Given the description of an element on the screen output the (x, y) to click on. 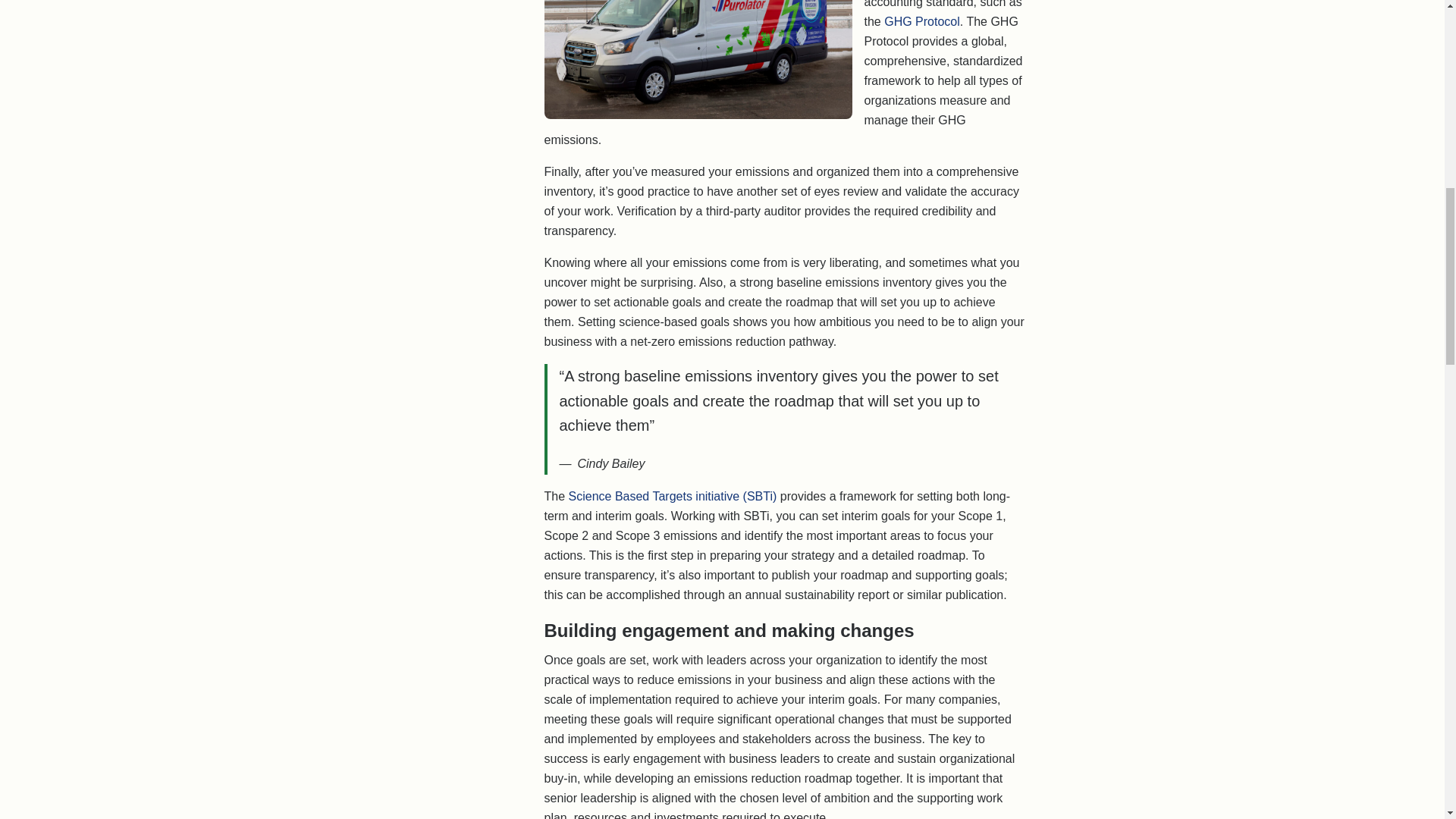
GHG Protocol (921, 21)
